Given the description of an element on the screen output the (x, y) to click on. 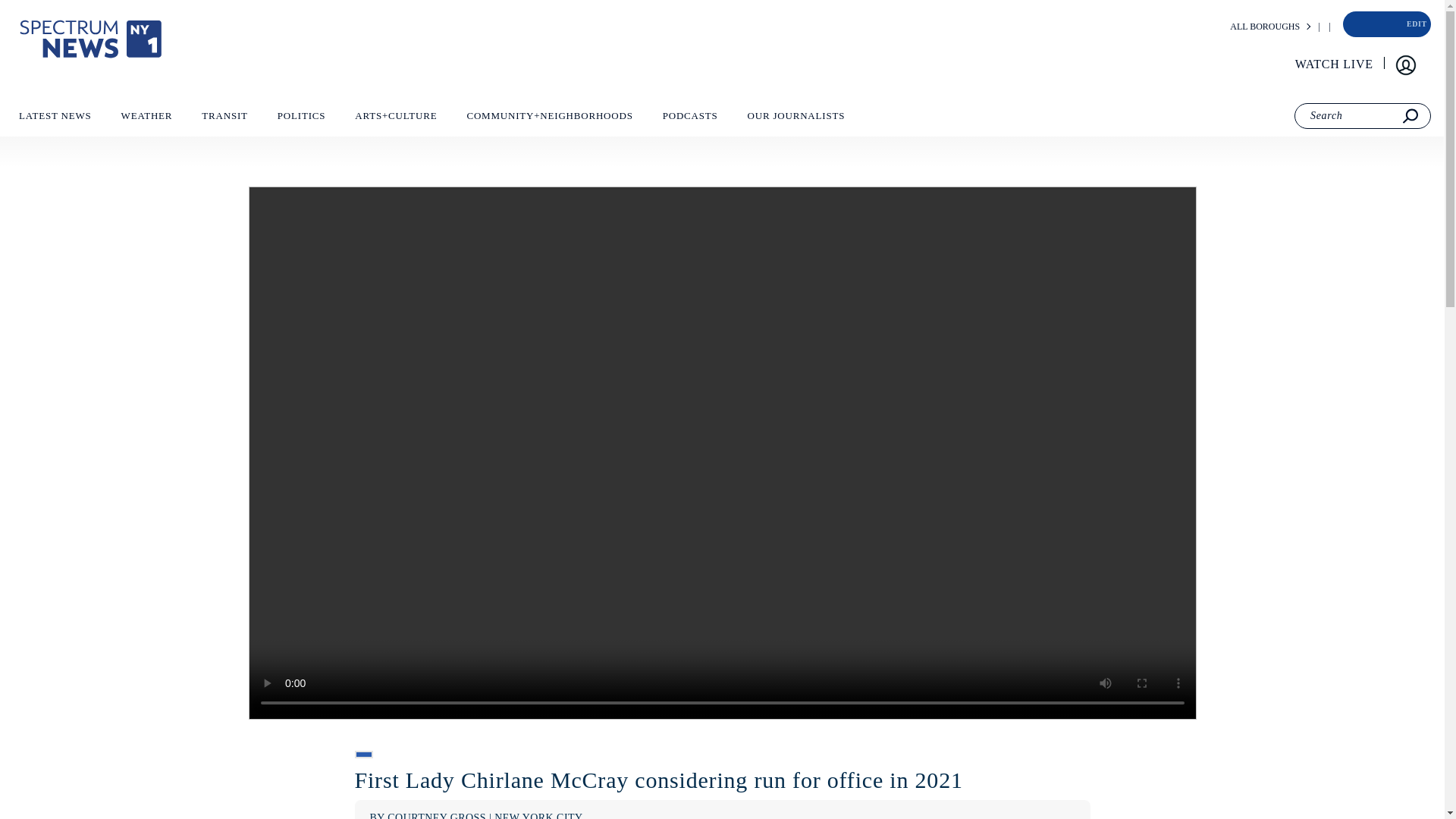
ALL BOROUGHS (1265, 26)
WATCH LIVE (1334, 64)
WEATHER (146, 119)
LATEST NEWS (55, 119)
